Given the description of an element on the screen output the (x, y) to click on. 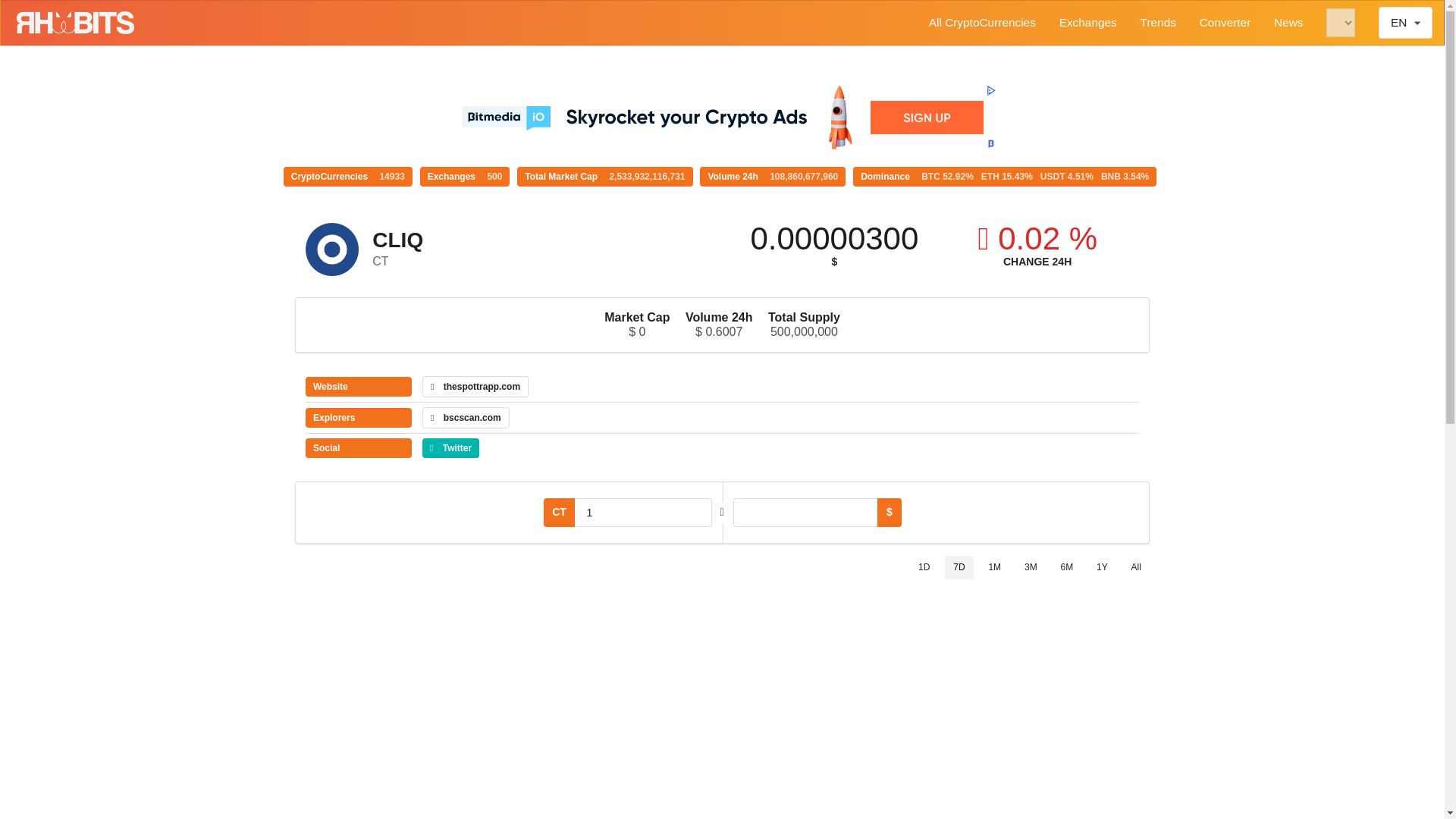
Volume 24h 108,860,677,960 (772, 176)
Trends (1158, 22)
All CryptoCurrencies (981, 22)
Twitter (450, 447)
Converter (1225, 22)
News (1288, 22)
Exchanges 500 (465, 176)
1 (643, 512)
Exchanges (1087, 22)
Total Market Cap 2,533,932,116,731 (604, 176)
thespottrapp.com (475, 386)
bscscan.com (465, 417)
CryptoCurrencies 14933 (347, 176)
